Given the description of an element on the screen output the (x, y) to click on. 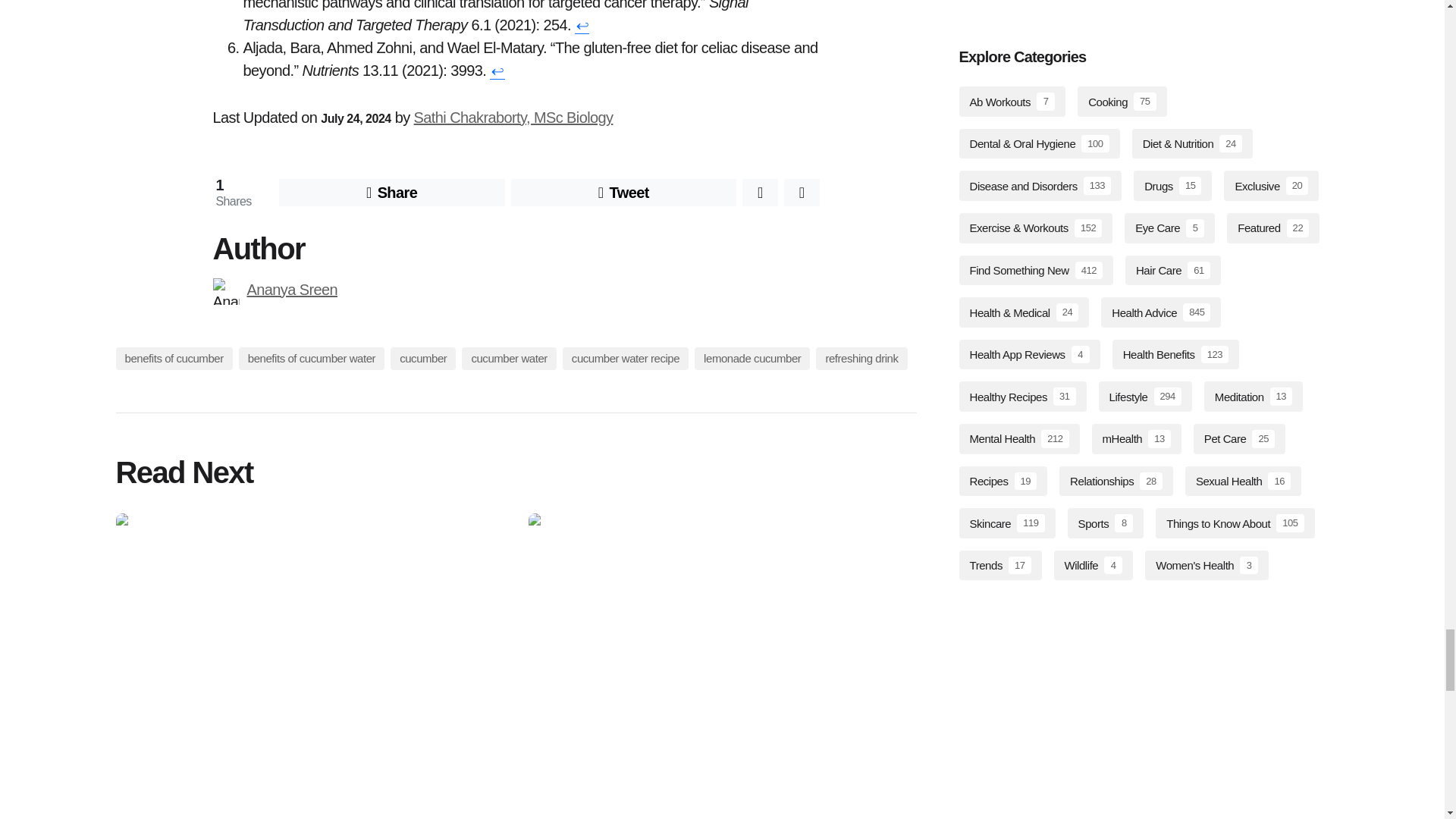
Ananya Sreen (292, 289)
Link Between Proper Nutrition and Academic Success! 16 (721, 658)
10 Amazing Benefits of Cucumber Water 8 (225, 291)
Yoga For Lower Back Pain: Top 12 Poses To Try Out 15 (309, 658)
